Given the description of an element on the screen output the (x, y) to click on. 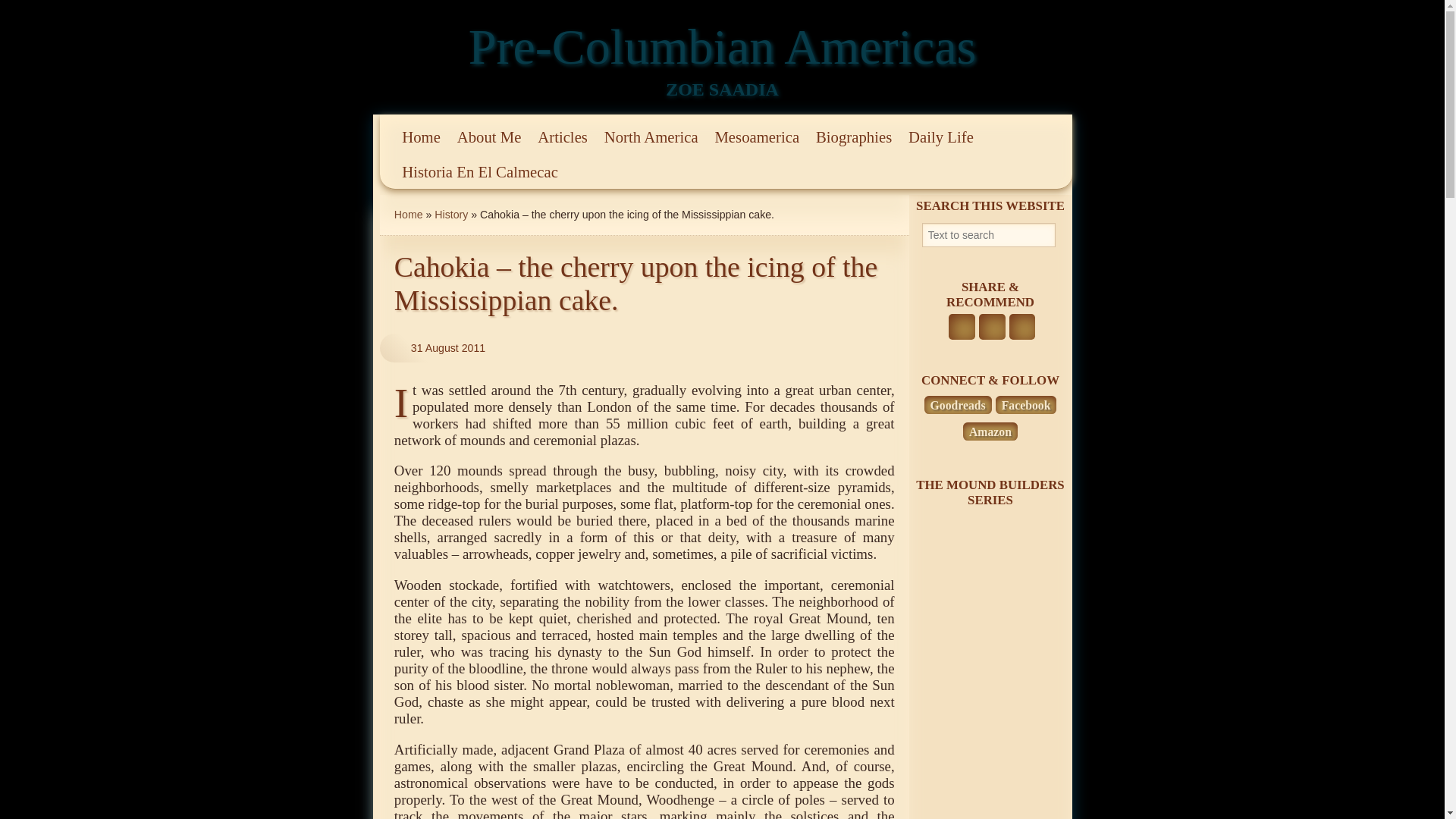
Dark Before Dawn (989, 701)
Send over email (1022, 326)
Share this page on Facebook (962, 326)
Pre-Columbian Americas (722, 46)
North America (650, 137)
About Me (488, 137)
Home (421, 137)
Articles (562, 137)
Raven of the North (989, 659)
Search for: (989, 234)
Tweet this page (992, 326)
ZOE SAADIA (721, 89)
Mesoamerica (757, 137)
Connect on goodreads (957, 404)
Watch on Amazon (989, 431)
